Given the description of an element on the screen output the (x, y) to click on. 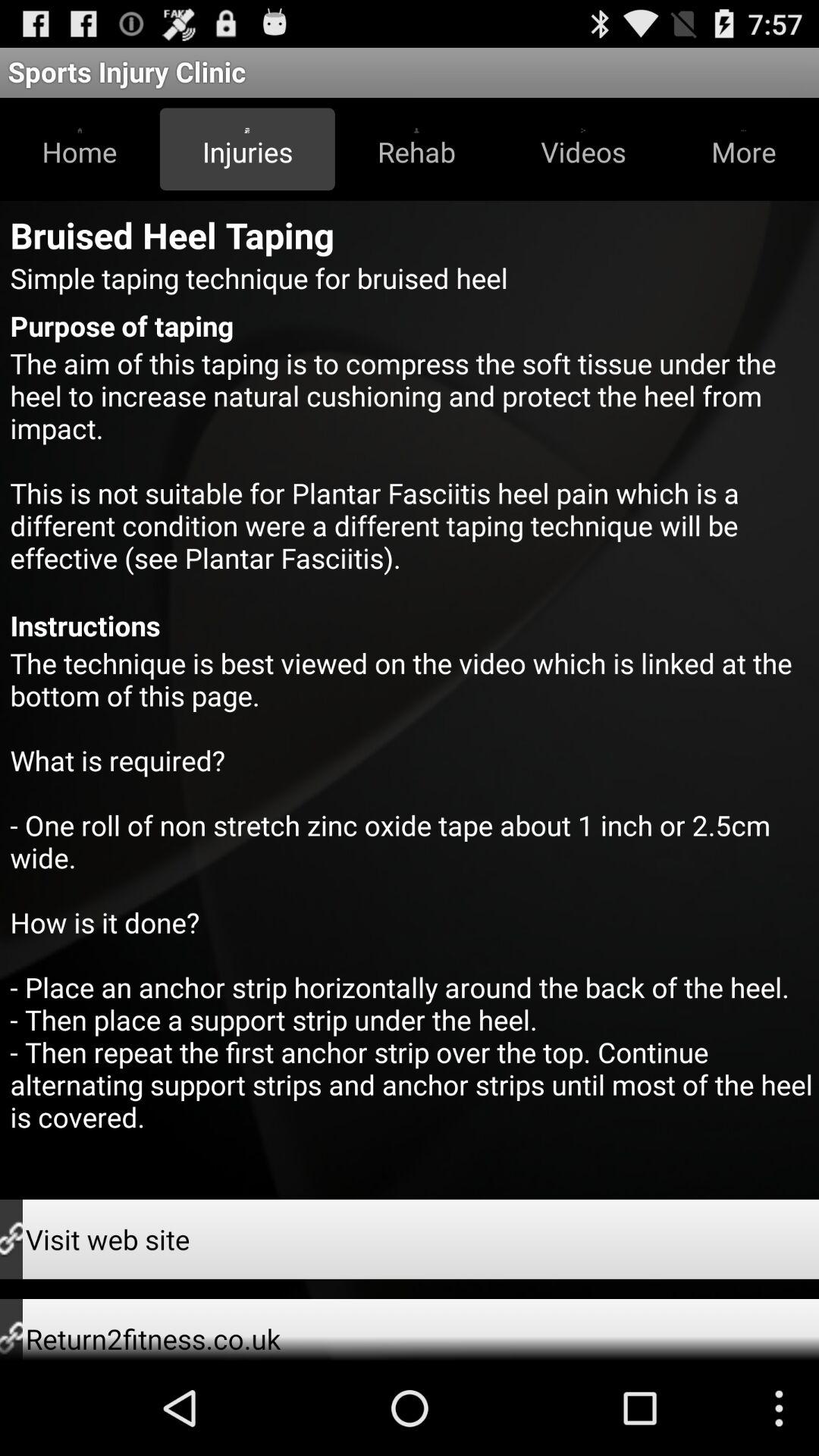
press item below sports injury clinic (416, 149)
